Given the description of an element on the screen output the (x, y) to click on. 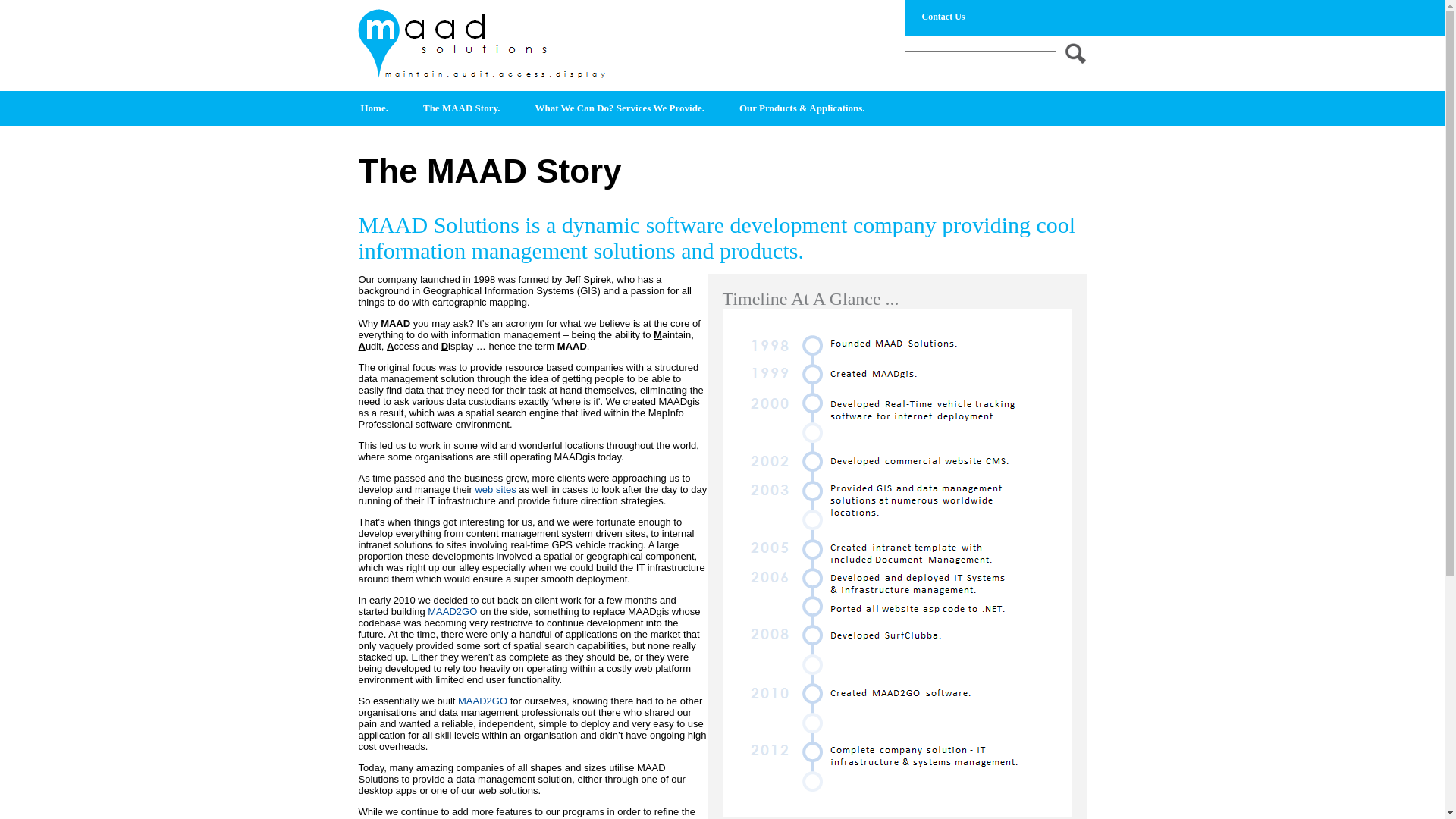
MAAD2GO Element type: text (451, 611)
web sites Element type: text (494, 489)
MAAD2GO Element type: text (482, 700)
